Given the description of an element on the screen output the (x, y) to click on. 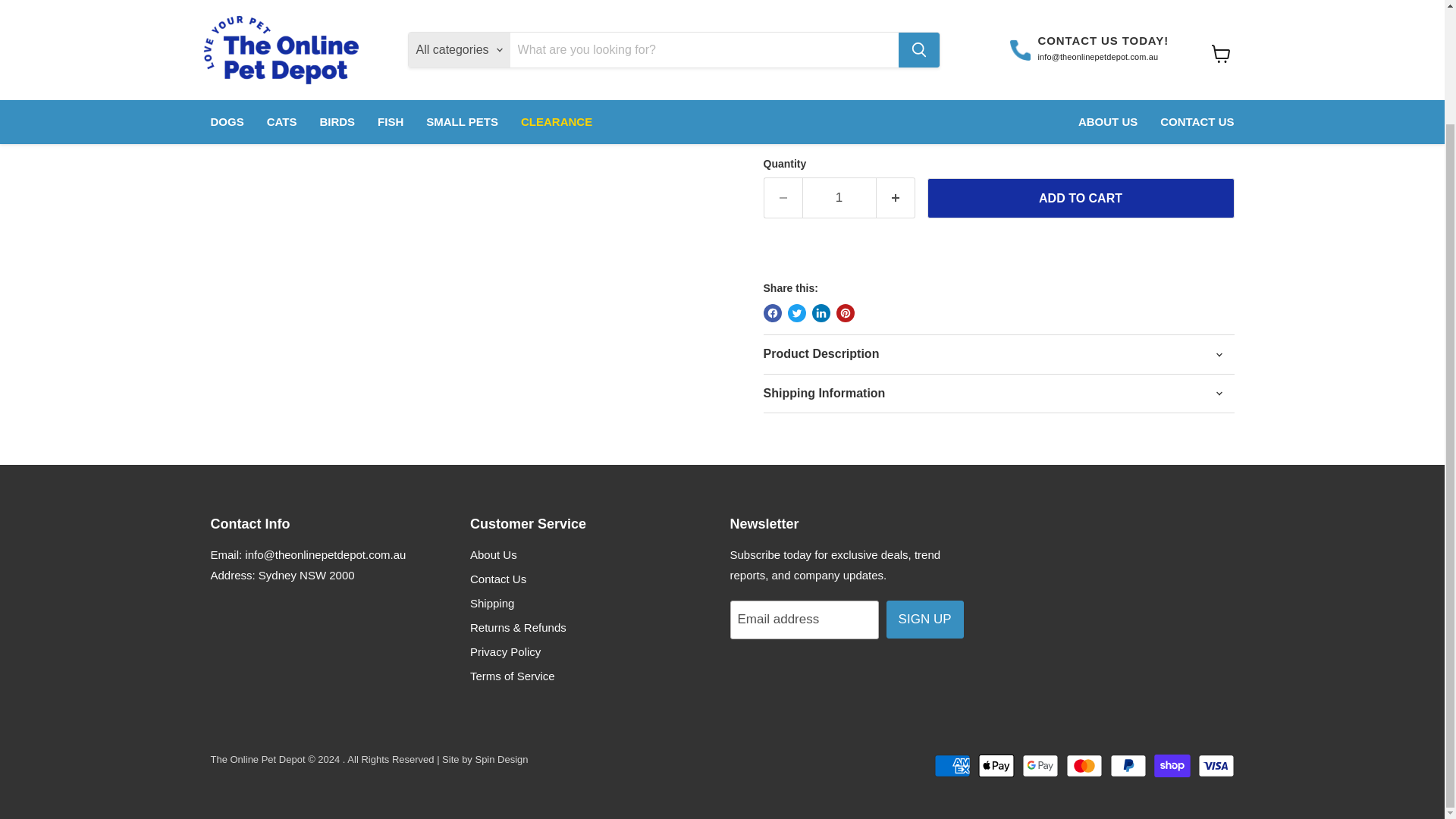
Click to expand (678, 56)
Mastercard (1083, 765)
Passwell (799, 103)
ADD TO CART (1079, 198)
Tweet on Twitter (796, 312)
Shop Pay (1172, 765)
Google Pay (1040, 765)
BIRDS (336, 1)
CLEARANCE (556, 1)
Passwell (799, 103)
FISH (390, 1)
American Express (952, 765)
ABOUT US (1107, 1)
CATS (282, 1)
Visa (1216, 765)
